Given the description of an element on the screen output the (x, y) to click on. 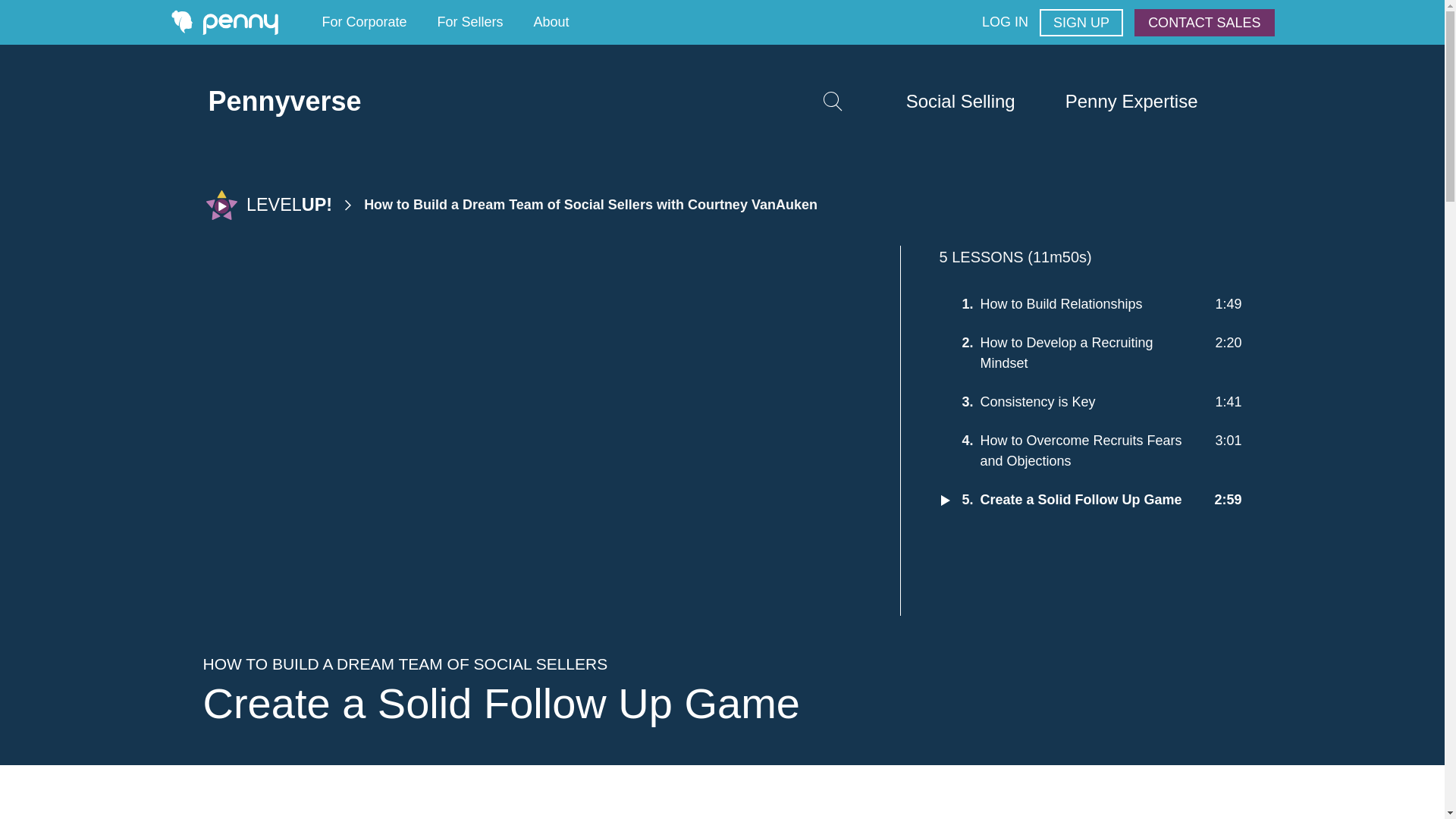
For Sellers (470, 22)
For Corporate (363, 22)
LOG IN (1004, 22)
For Corporate (363, 22)
SIGN UP (1080, 22)
Social Selling (959, 101)
CONTACT SALES (1204, 22)
Pennyverse (284, 101)
For Sellers (470, 22)
